Given the description of an element on the screen output the (x, y) to click on. 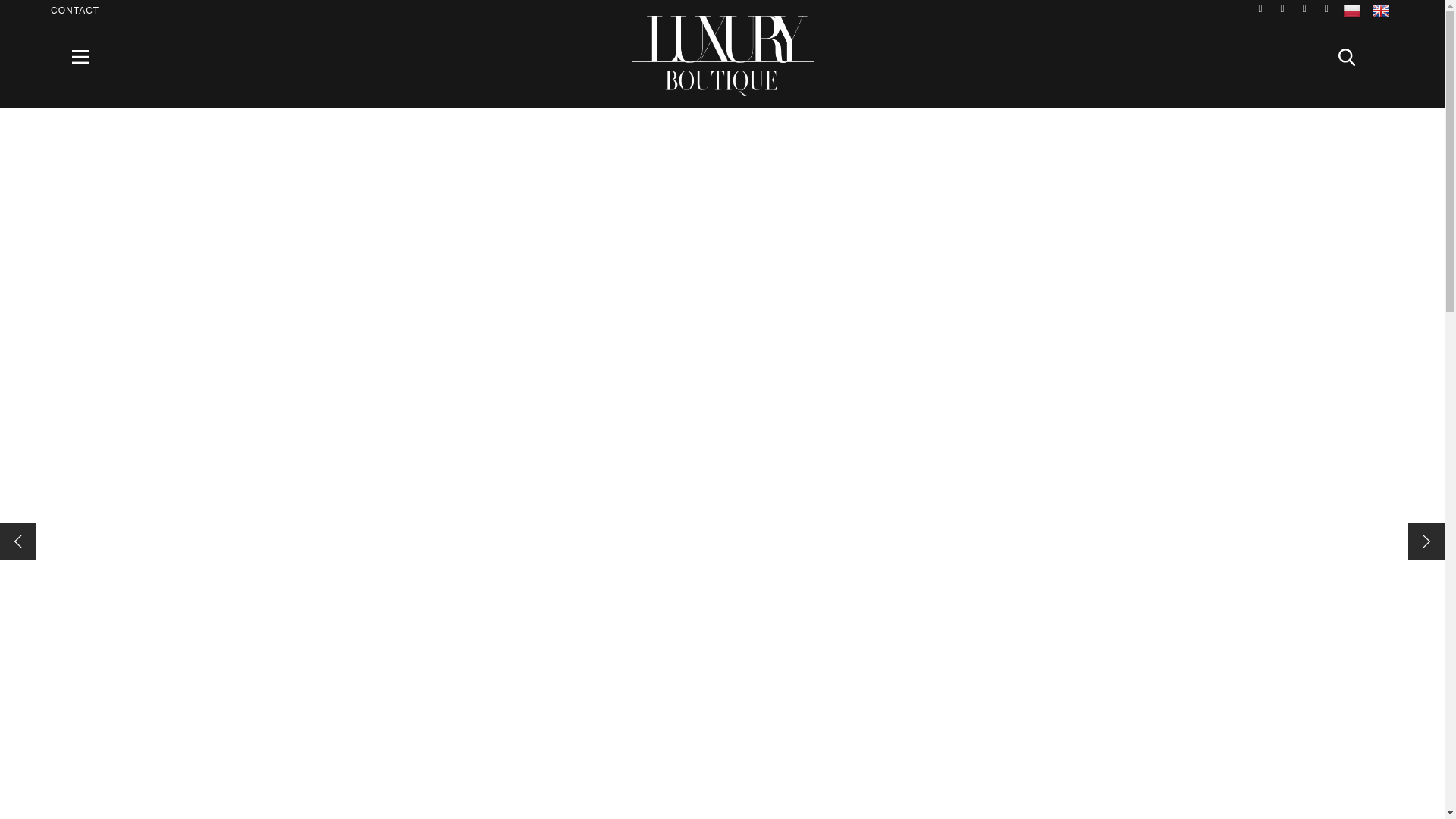
Search (1355, 56)
CONTACT (74, 9)
Menu (88, 56)
